Given the description of an element on the screen output the (x, y) to click on. 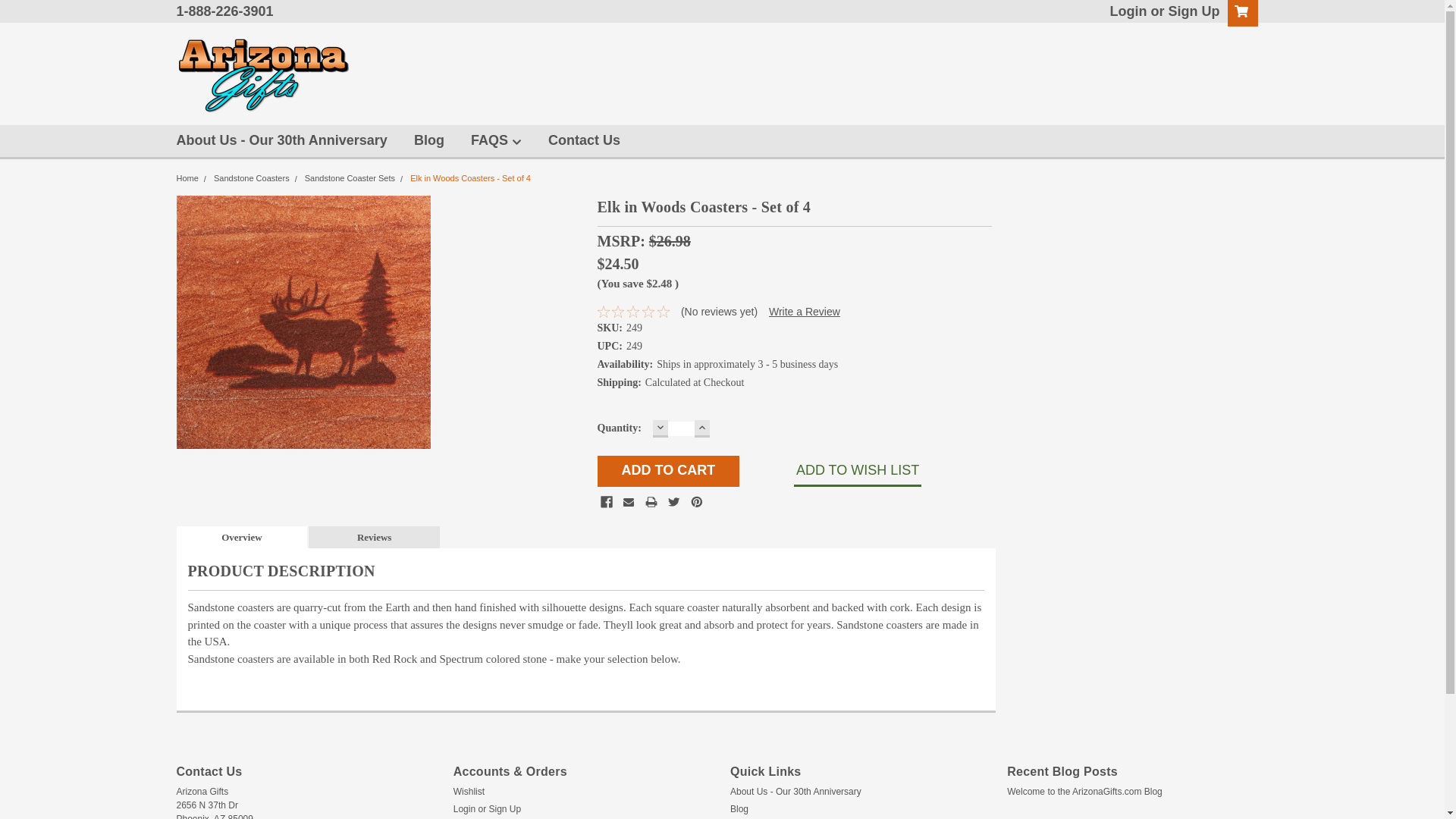
Arizona Gifts (262, 75)
Login (1128, 11)
Sign Up (1192, 11)
Add to Cart (667, 470)
1 (681, 428)
Elk in Woods Coasters - Set of 4 (302, 321)
